Given the description of an element on the screen output the (x, y) to click on. 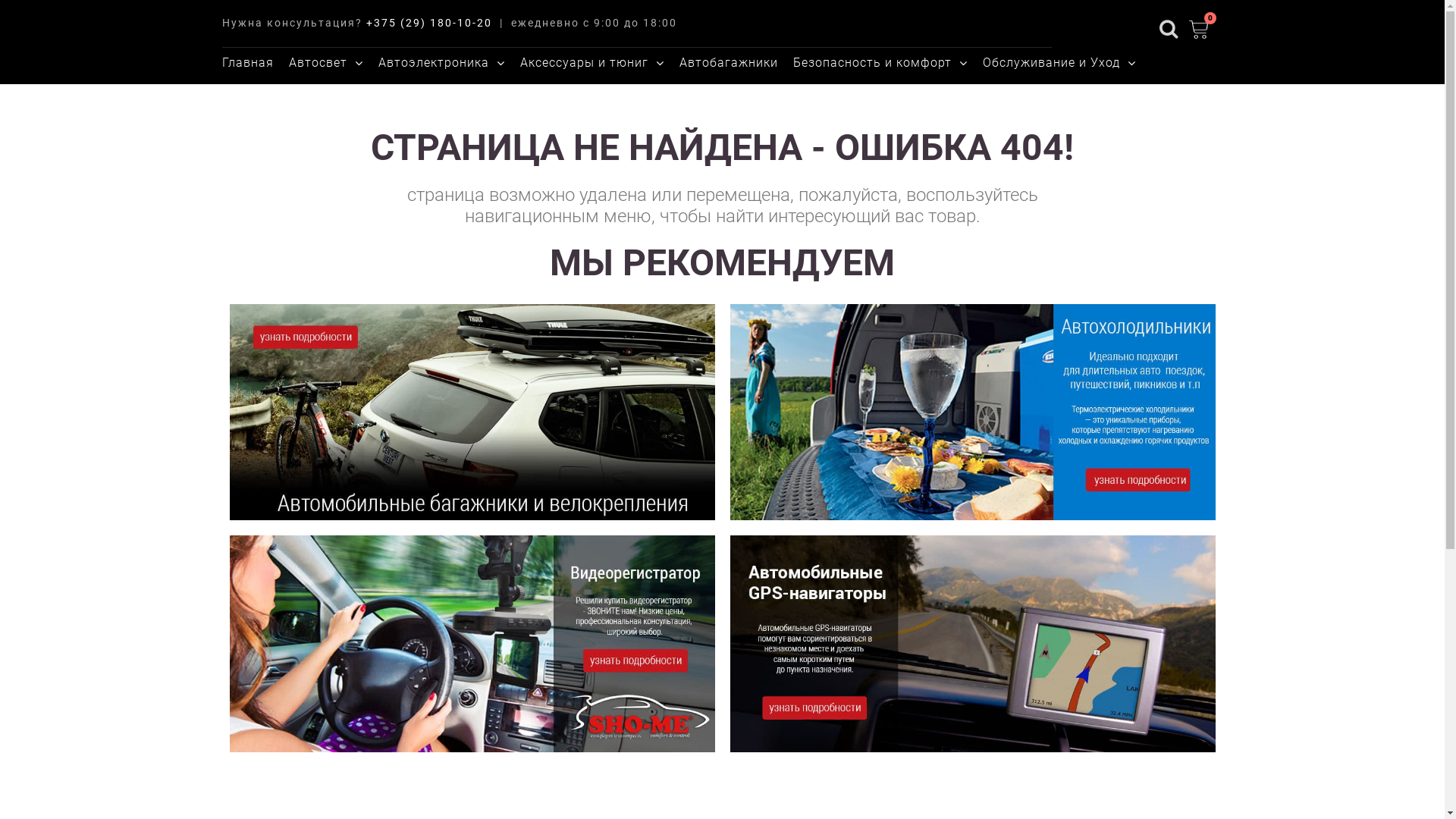
+375 (29) 180-10-20 Element type: text (428, 22)
